Given the description of an element on the screen output the (x, y) to click on. 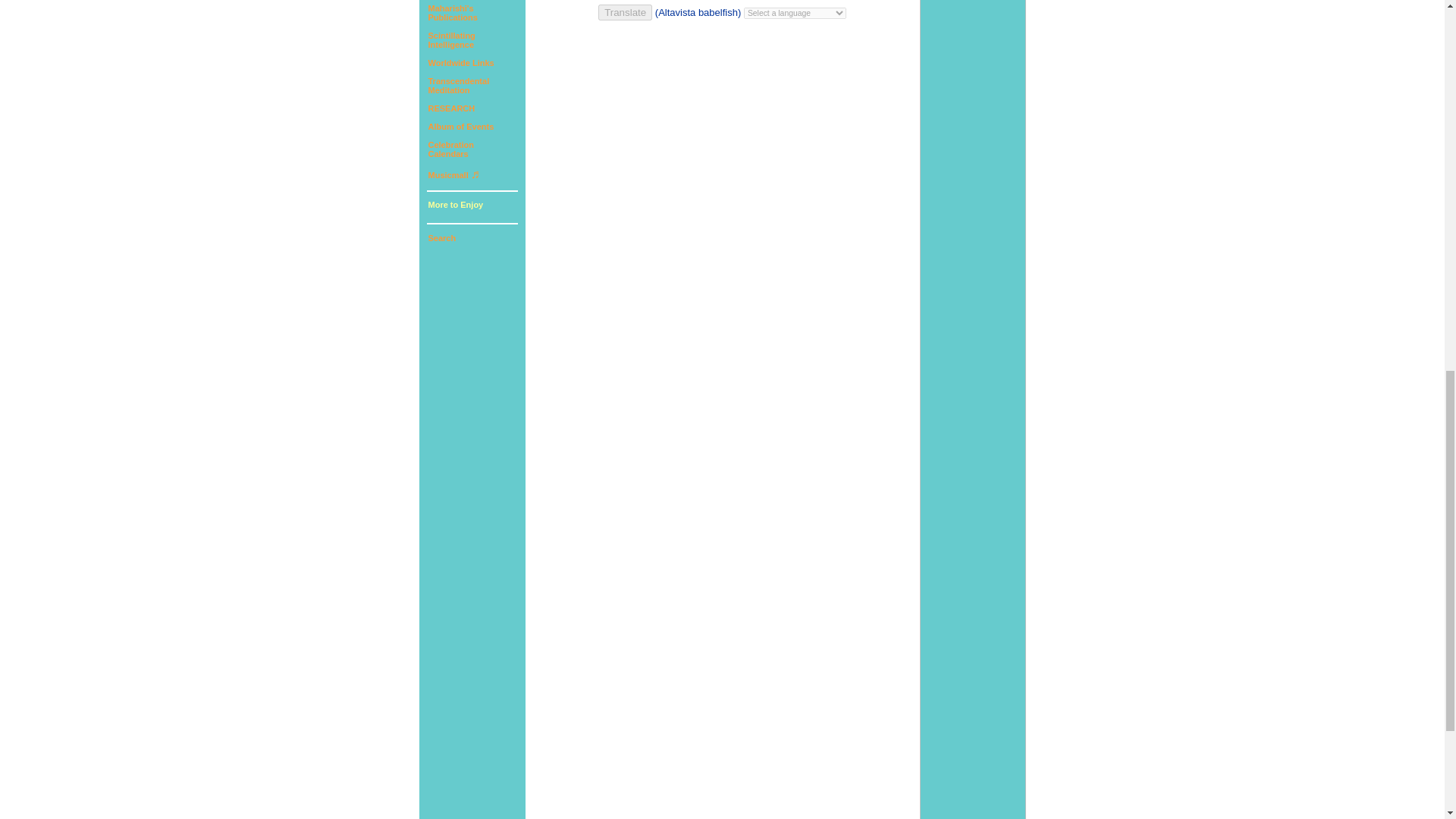
Worldwide Links (452, 13)
RESEARCH (460, 62)
Translate (451, 149)
More to Enjoy (451, 40)
Album of Events (458, 85)
